Given the description of an element on the screen output the (x, y) to click on. 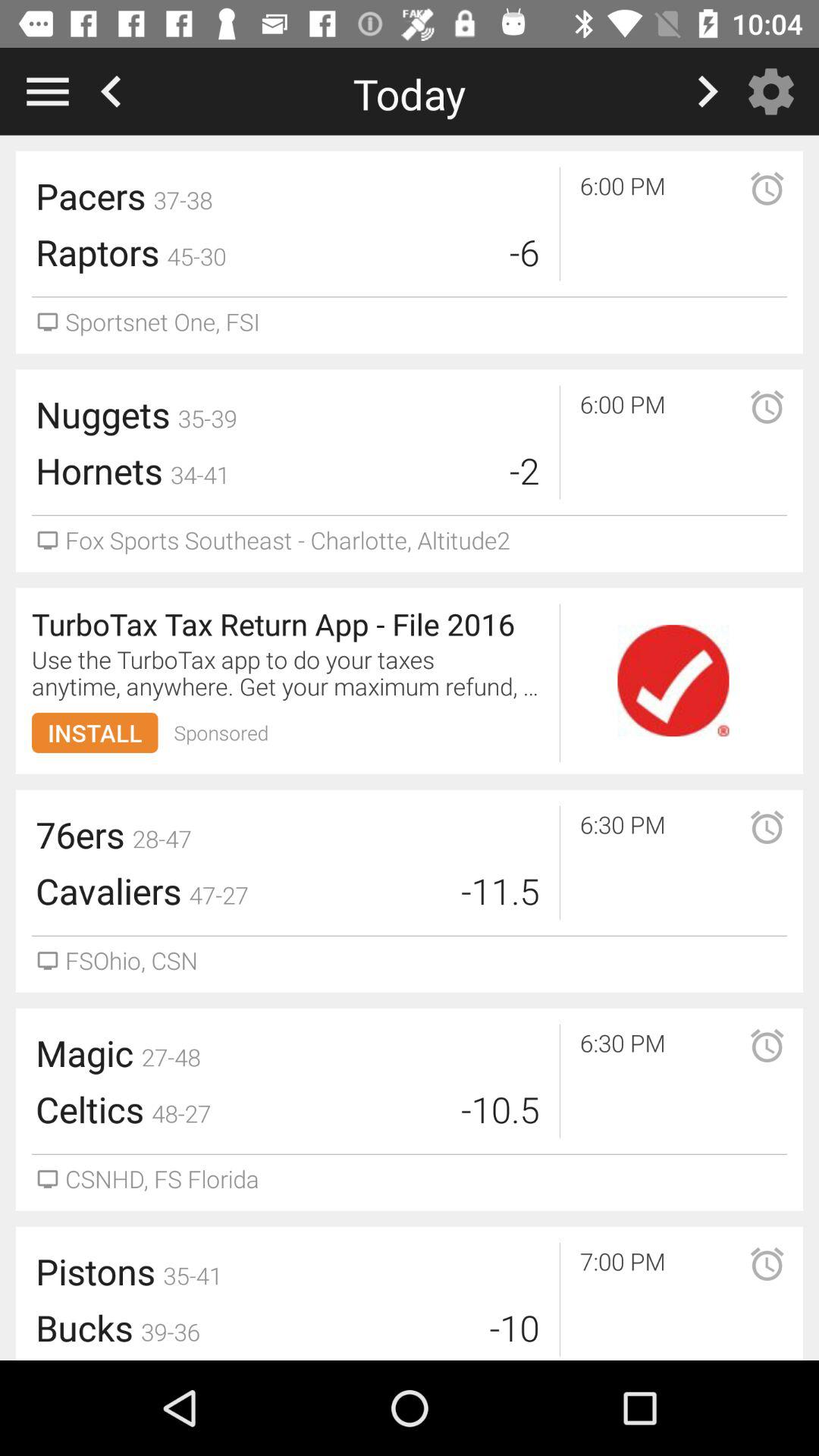
accept button to confirm installation (673, 680)
